Given the description of an element on the screen output the (x, y) to click on. 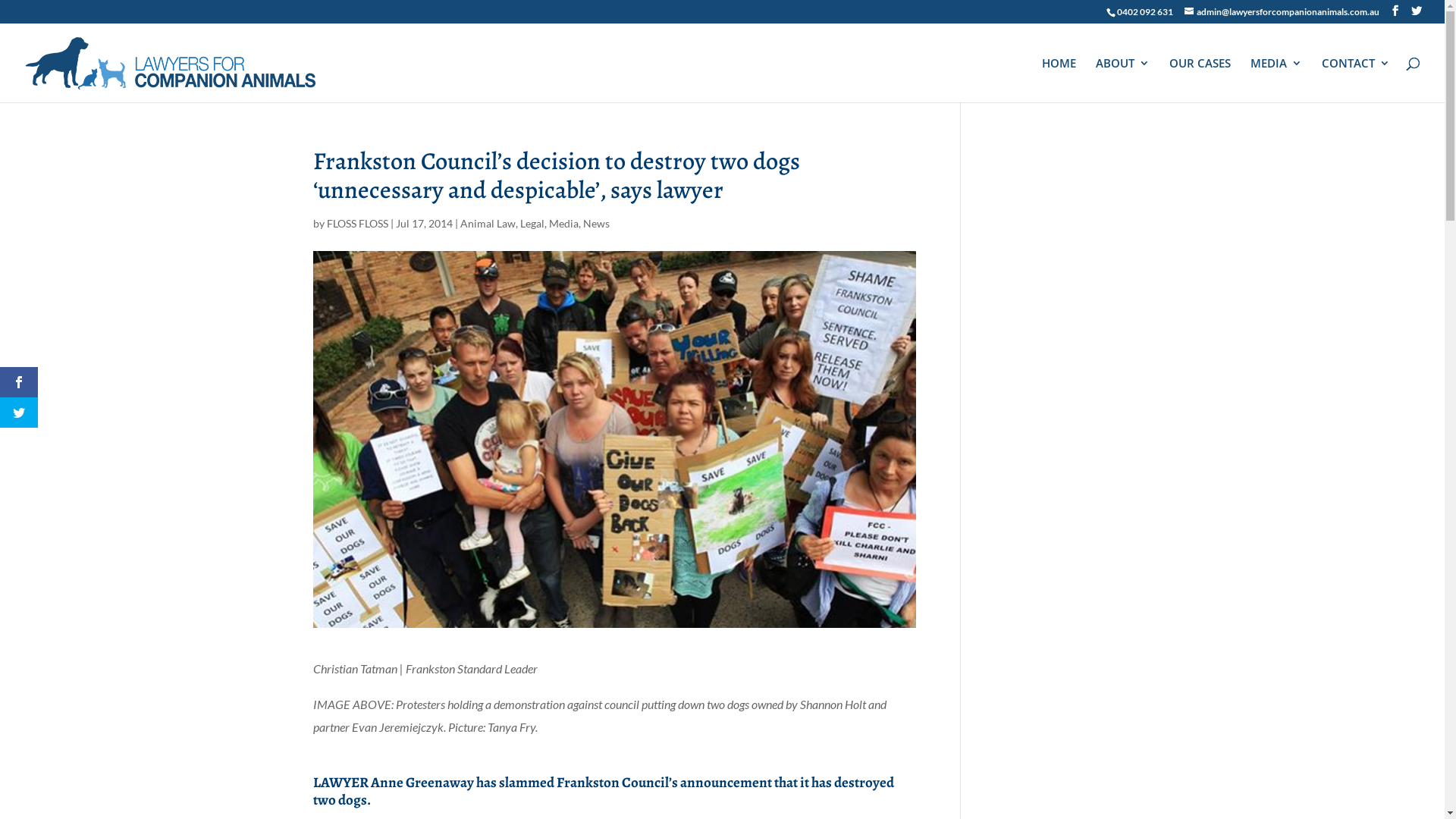
FLOSS FLOSS Element type: text (356, 222)
News Element type: text (595, 222)
CONTACT Element type: text (1355, 79)
MEDIA Element type: text (1276, 79)
ABOUT Element type: text (1122, 79)
Legal Element type: text (532, 222)
Animal Law Element type: text (486, 222)
OUR CASES Element type: text (1199, 79)
0402 092 631 Element type: text (1145, 11)
admin@lawyersforcompanionanimals.com.au Element type: text (1281, 11)
HOME Element type: text (1058, 79)
Media Element type: text (563, 222)
